Given the description of an element on the screen output the (x, y) to click on. 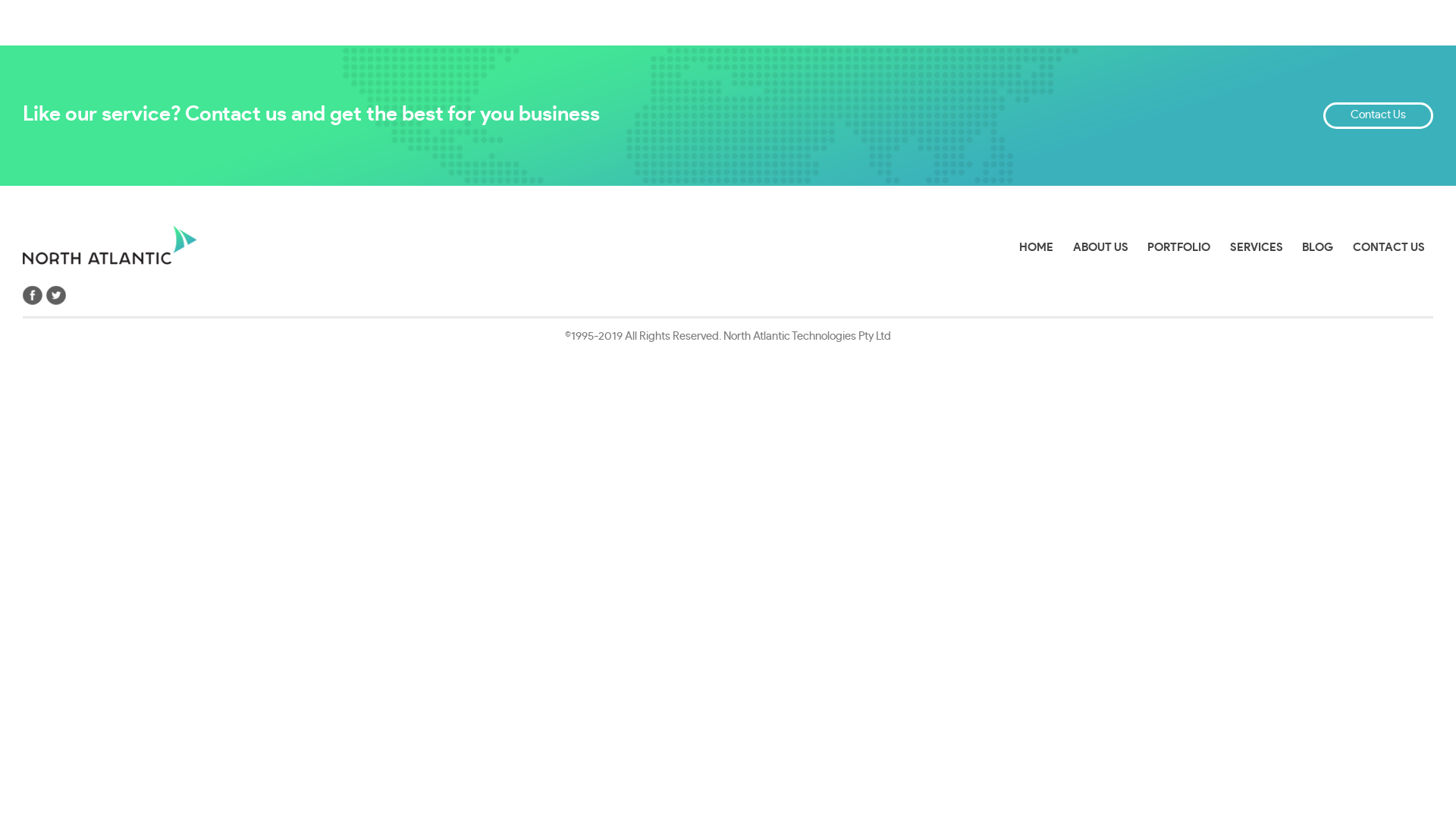
HOME Element type: text (1036, 247)
SERVICES Element type: text (1256, 247)
BLOG Element type: text (1317, 247)
Contact Us Element type: text (1378, 115)
ABOUT US Element type: text (1100, 247)
CONTACT US Element type: text (1388, 247)
PORTFOLIO Element type: text (1178, 247)
